Given the description of an element on the screen output the (x, y) to click on. 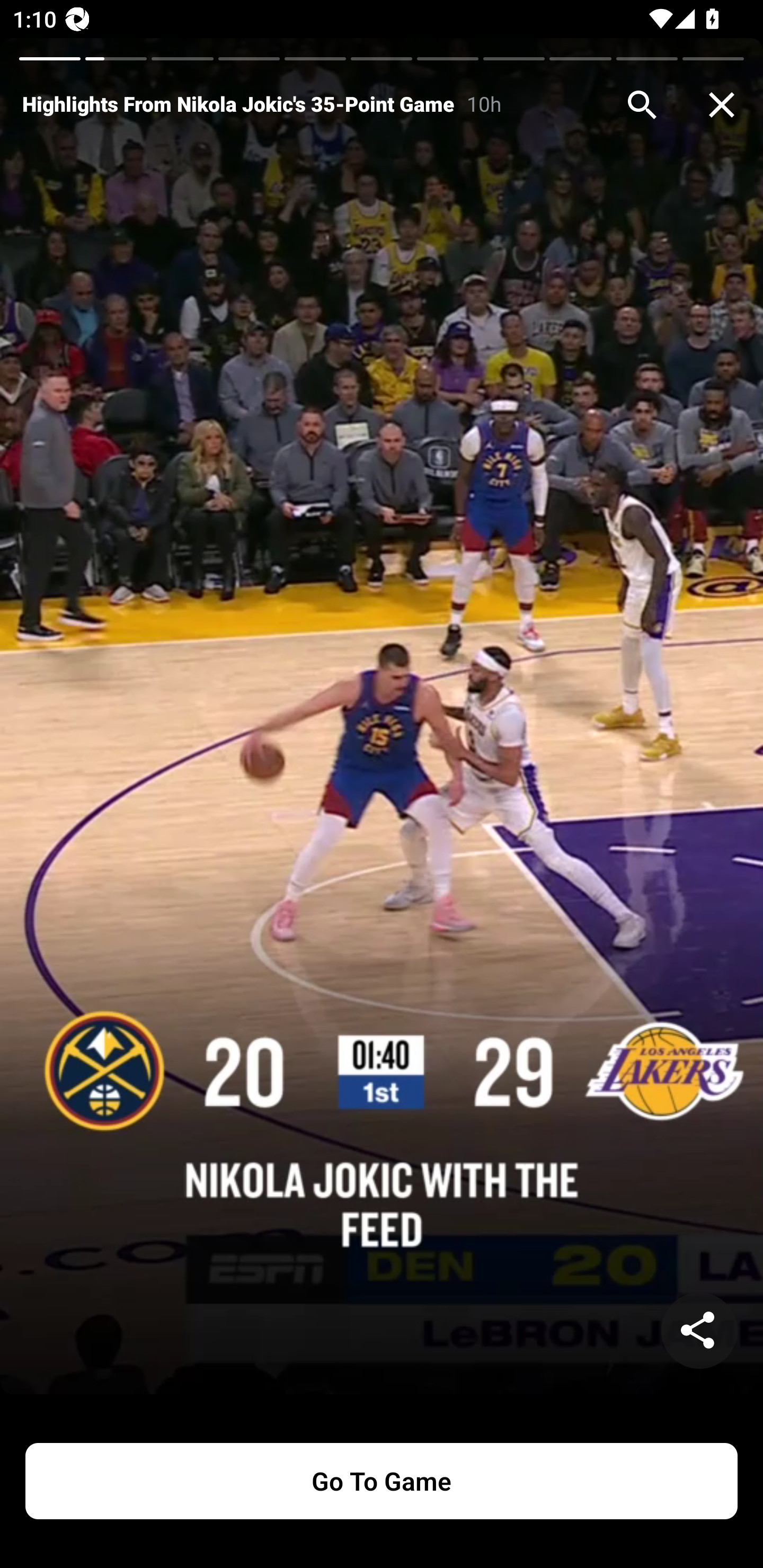
search (642, 104)
close (721, 104)
share (699, 1330)
Go To Game (381, 1480)
